Given the description of an element on the screen output the (x, y) to click on. 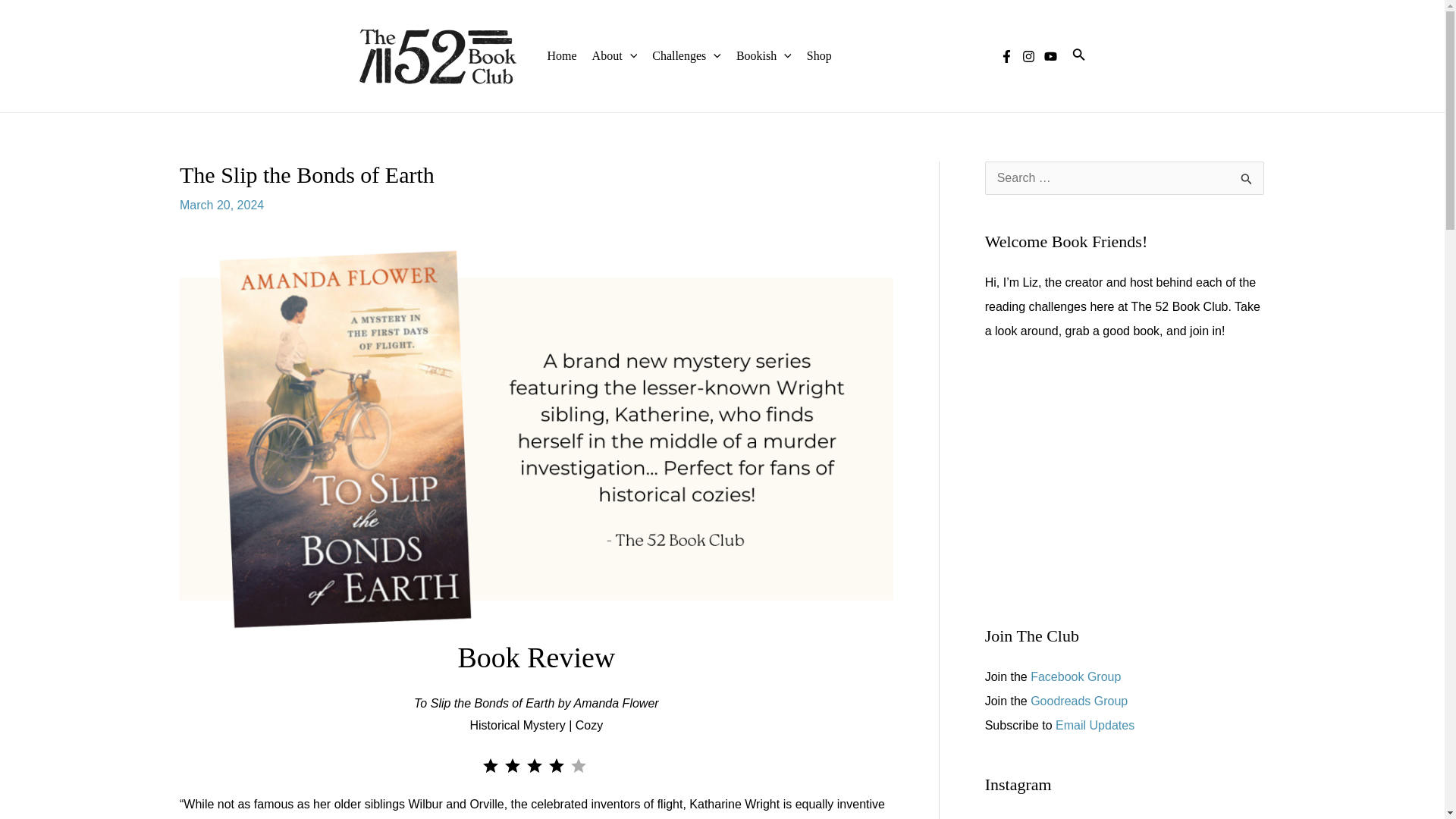
Search (1246, 177)
Search (1246, 177)
Advertisement (1124, 483)
